Given the description of an element on the screen output the (x, y) to click on. 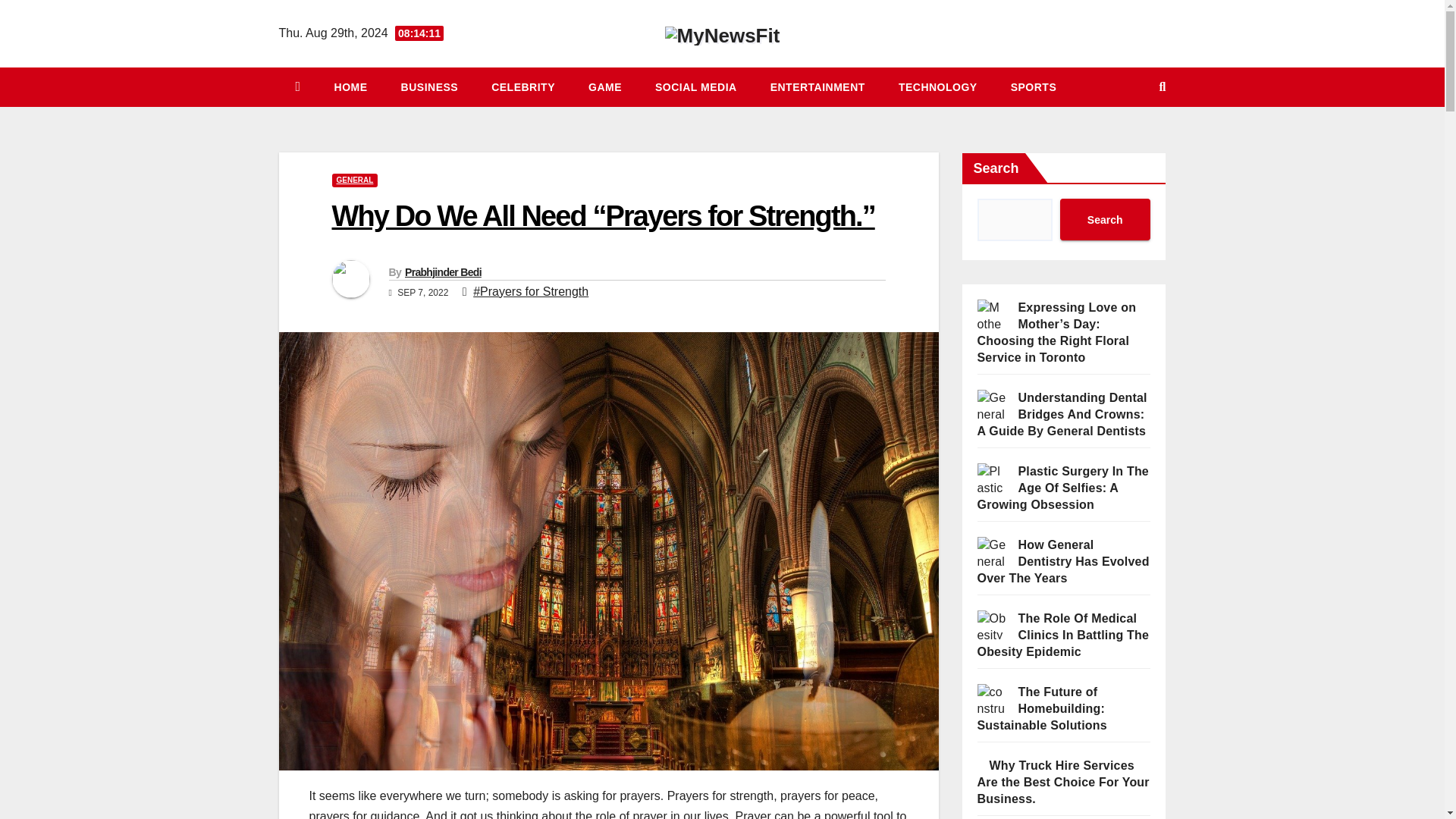
GENERAL (354, 180)
GAME (605, 87)
SPORTS (1034, 87)
Prabhjinder Bedi (442, 272)
Business (430, 87)
Celebrity (523, 87)
BUSINESS (430, 87)
CELEBRITY (523, 87)
TECHNOLOGY (938, 87)
HOME (350, 87)
